Given the description of an element on the screen output the (x, y) to click on. 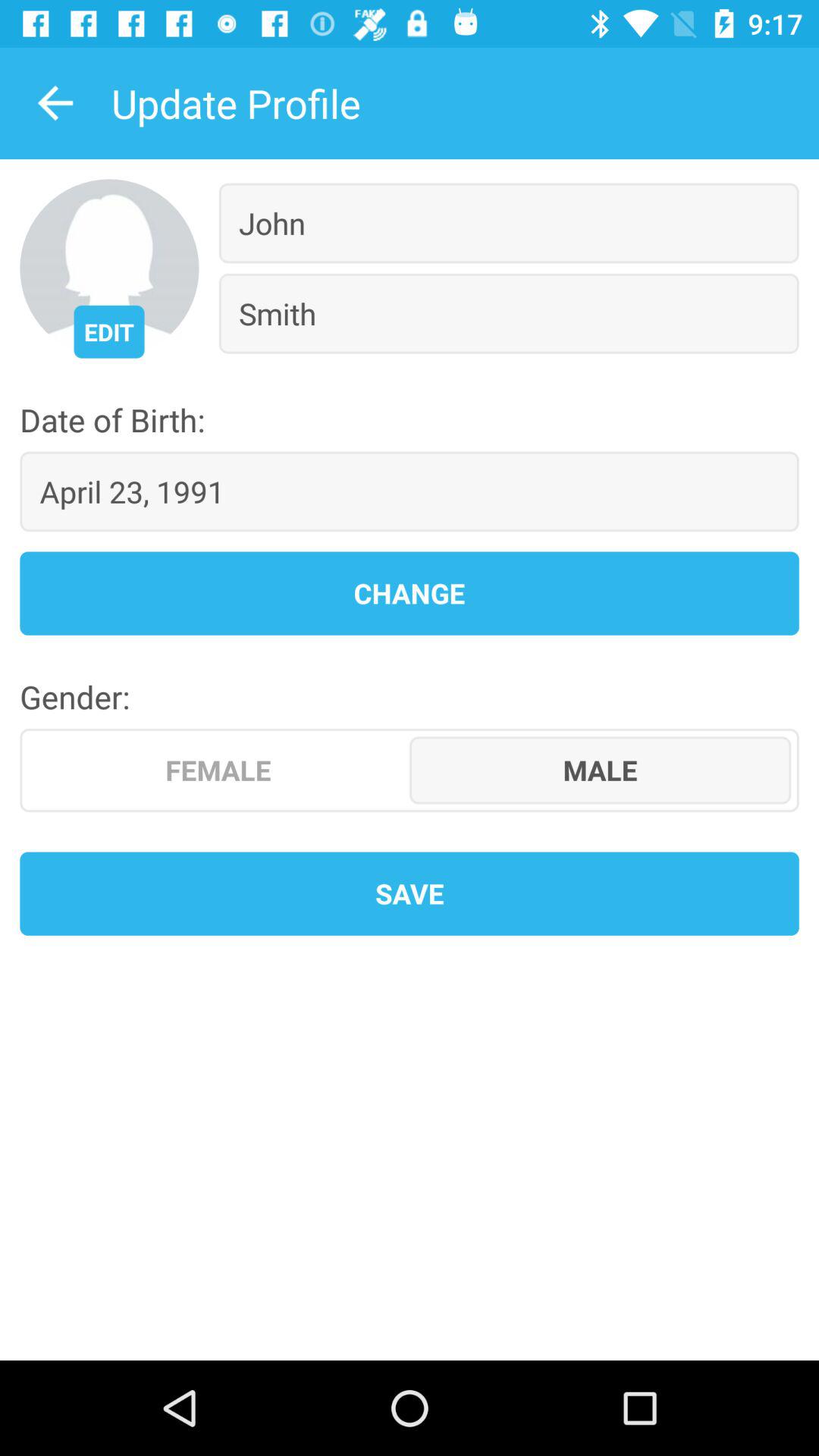
click the item above gender: icon (409, 593)
